Given the description of an element on the screen output the (x, y) to click on. 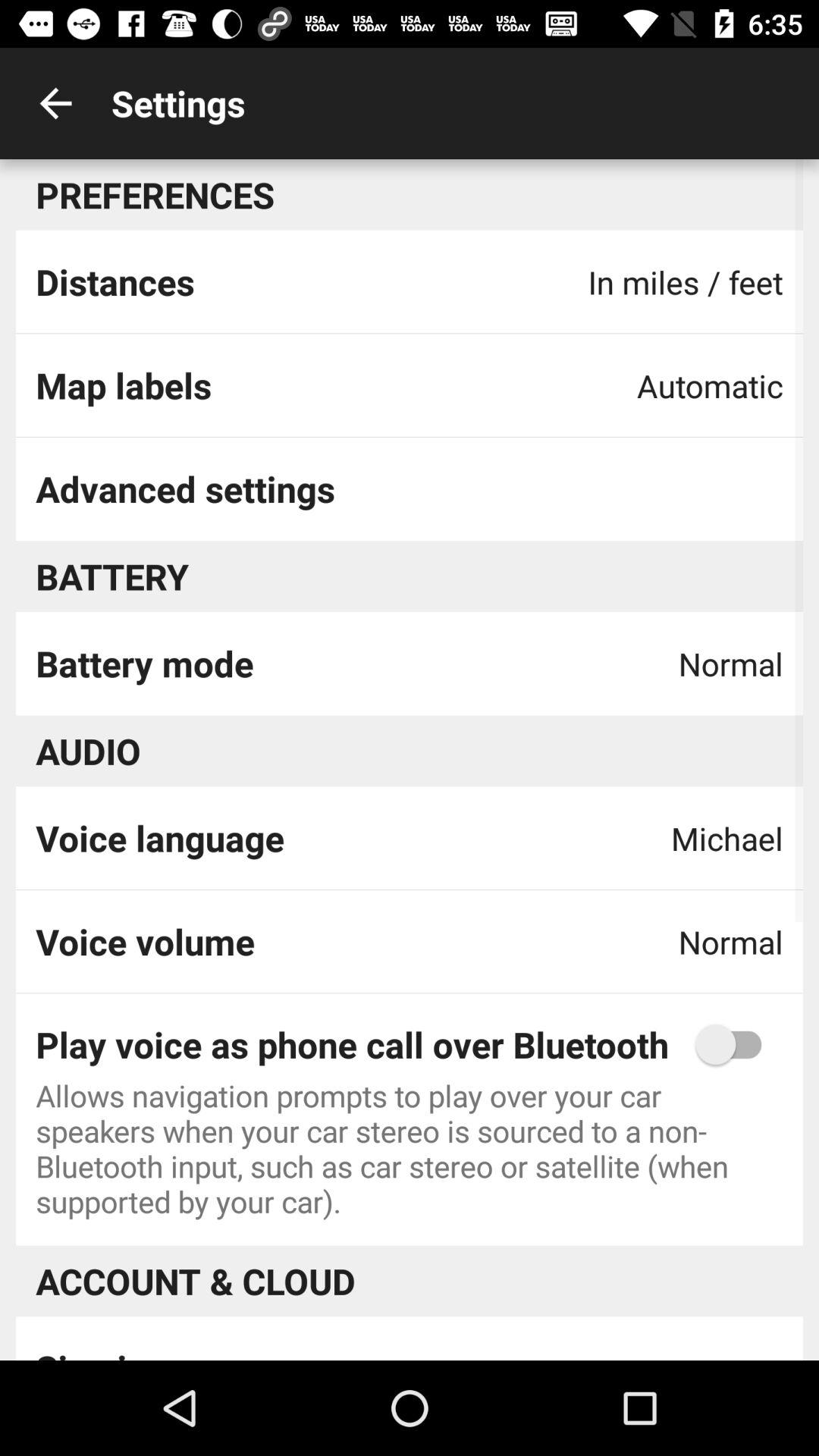
toggle autoplay icon (735, 1044)
